Given the description of an element on the screen output the (x, y) to click on. 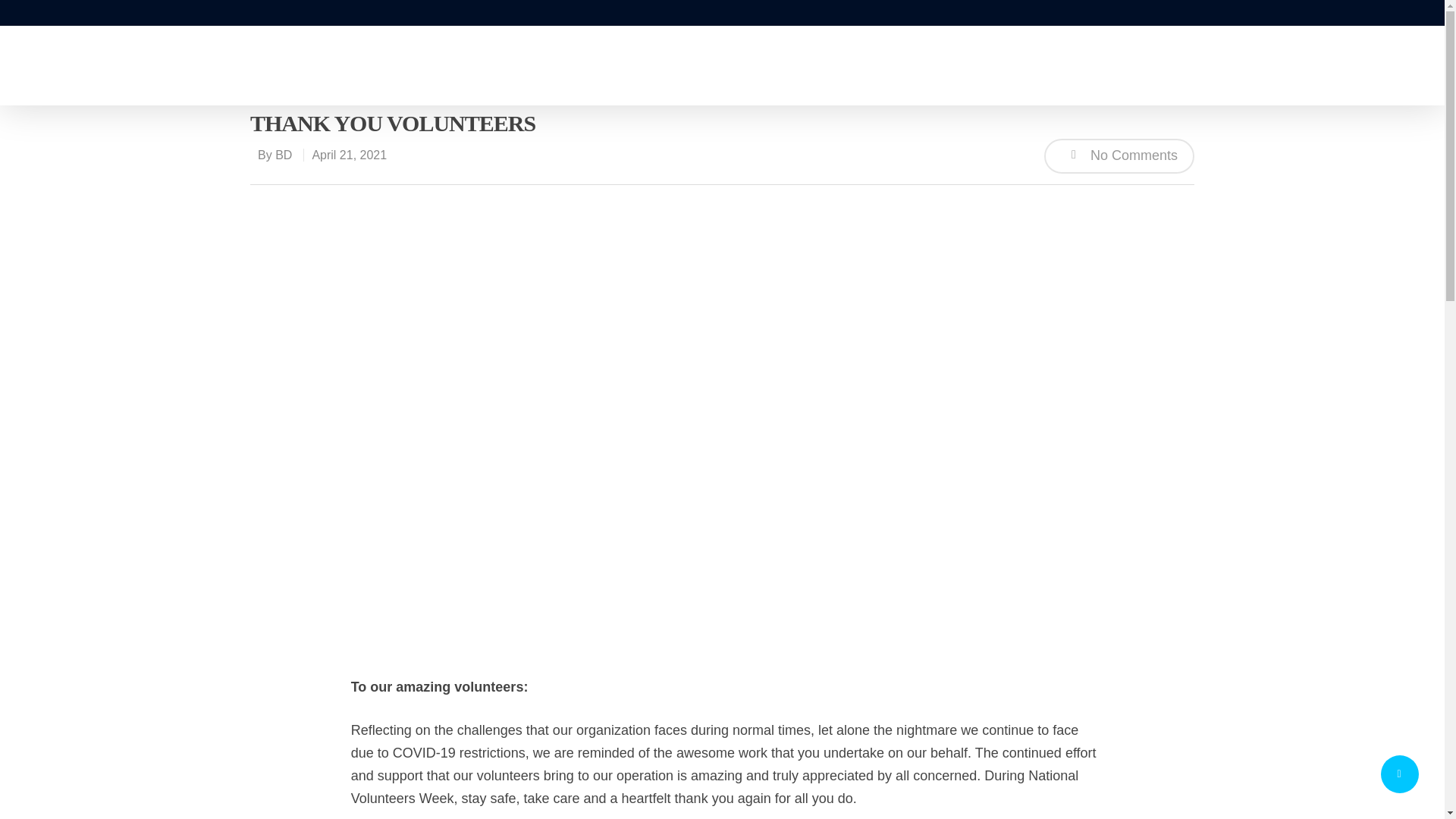
Posts by BD (283, 154)
